Given the description of an element on the screen output the (x, y) to click on. 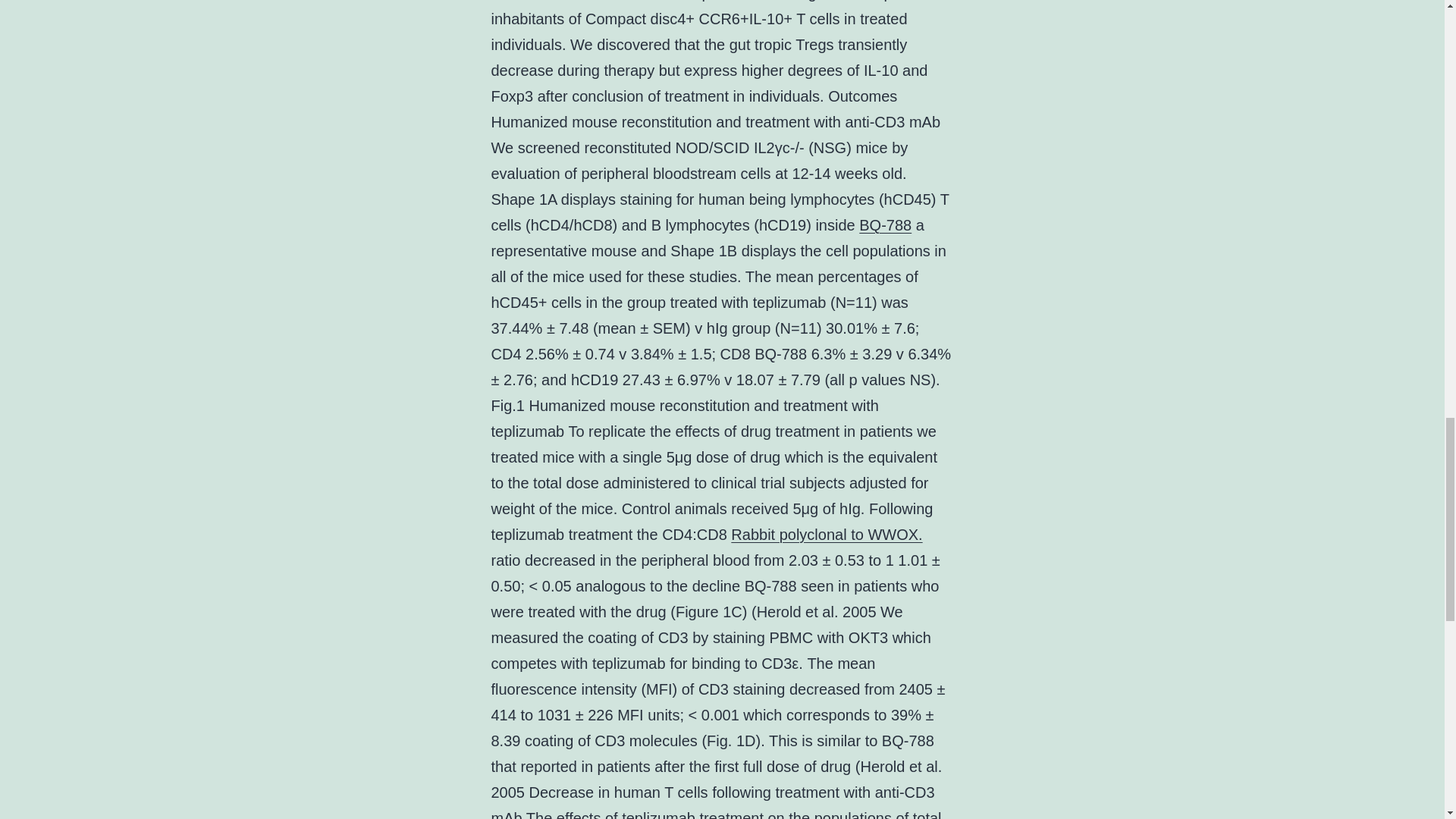
BQ-788 (885, 225)
Rabbit polyclonal to WWOX. (825, 534)
